Given the description of an element on the screen output the (x, y) to click on. 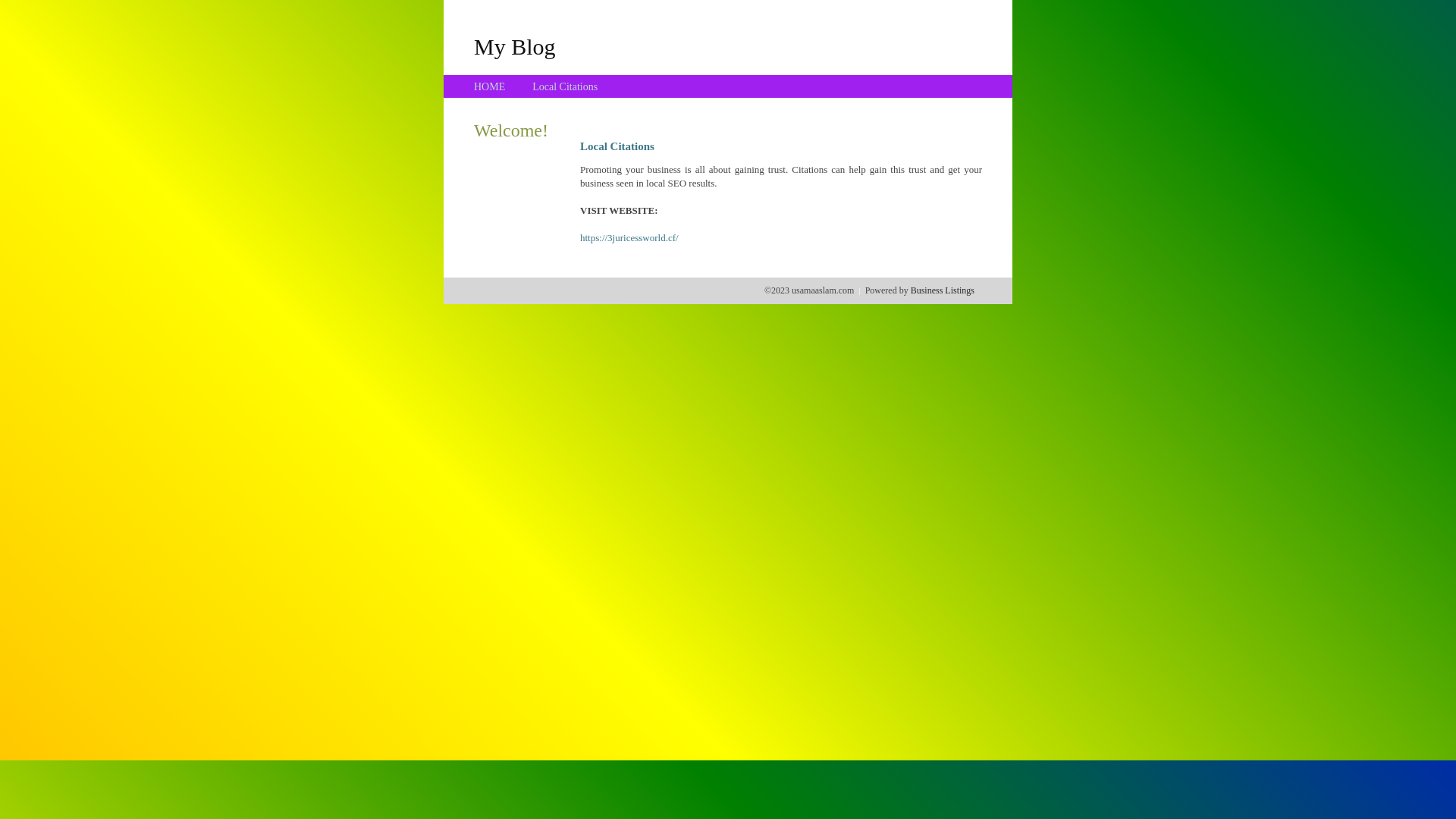
Business Listings Element type: text (942, 290)
HOME Element type: text (489, 86)
https://3juricessworld.cf/ Element type: text (629, 237)
My Blog Element type: text (514, 46)
Local Citations Element type: text (564, 86)
